Given the description of an element on the screen output the (x, y) to click on. 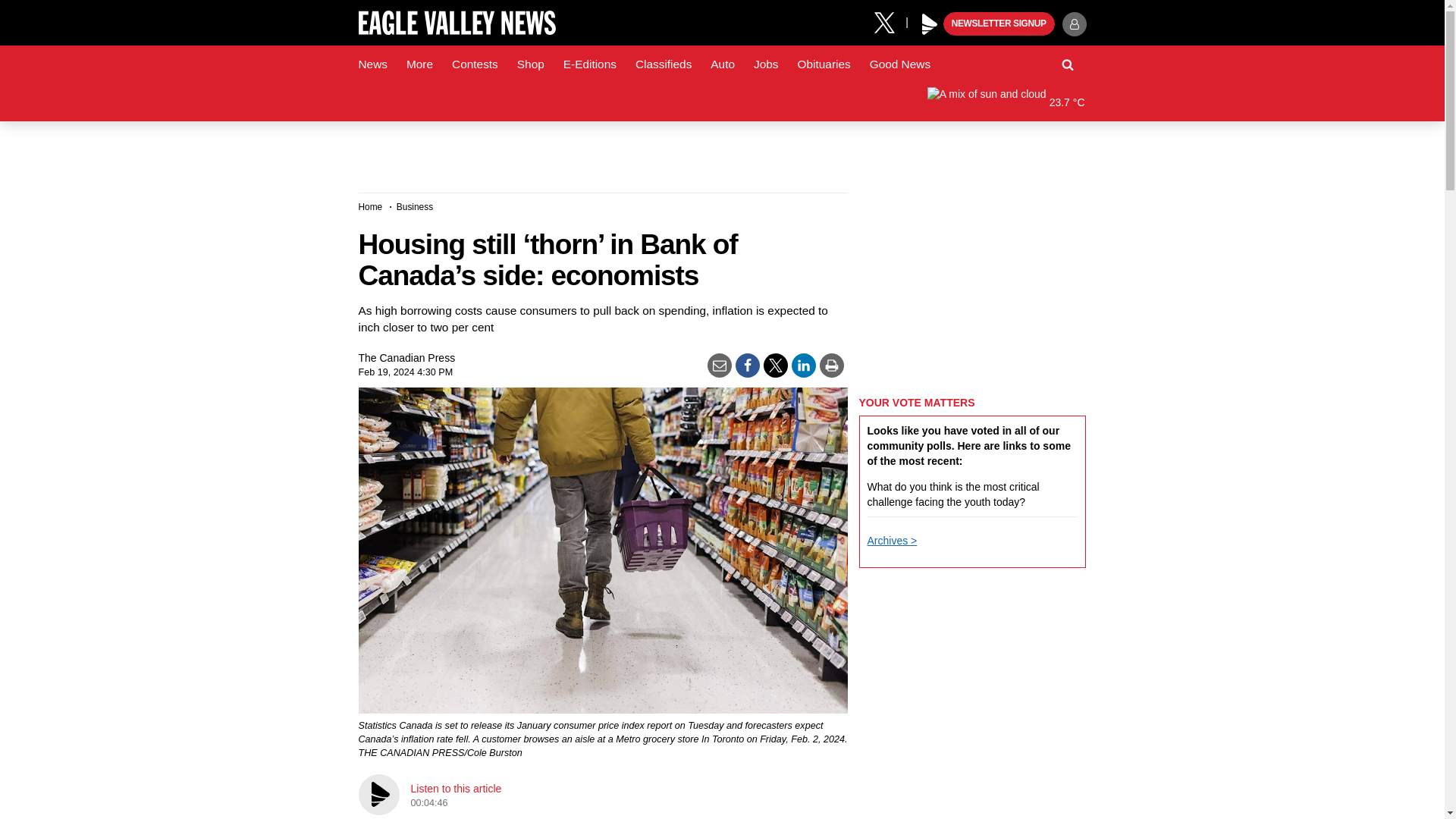
News (372, 64)
NEWSLETTER SIGNUP (998, 24)
Black Press Media (929, 24)
Play (929, 24)
X (889, 21)
